Given the description of an element on the screen output the (x, y) to click on. 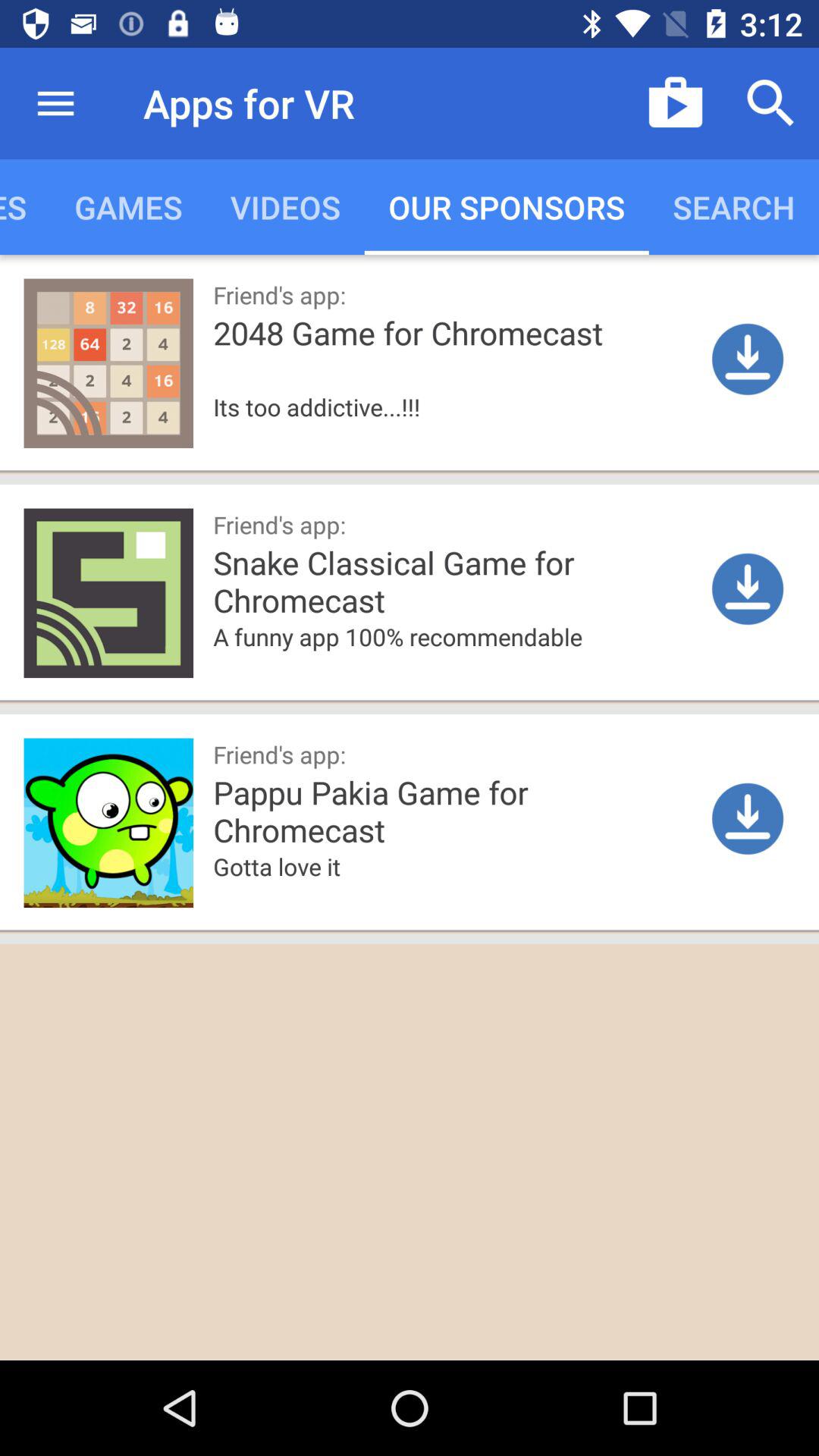
tap item next to the apps for vr (55, 103)
